Given the description of an element on the screen output the (x, y) to click on. 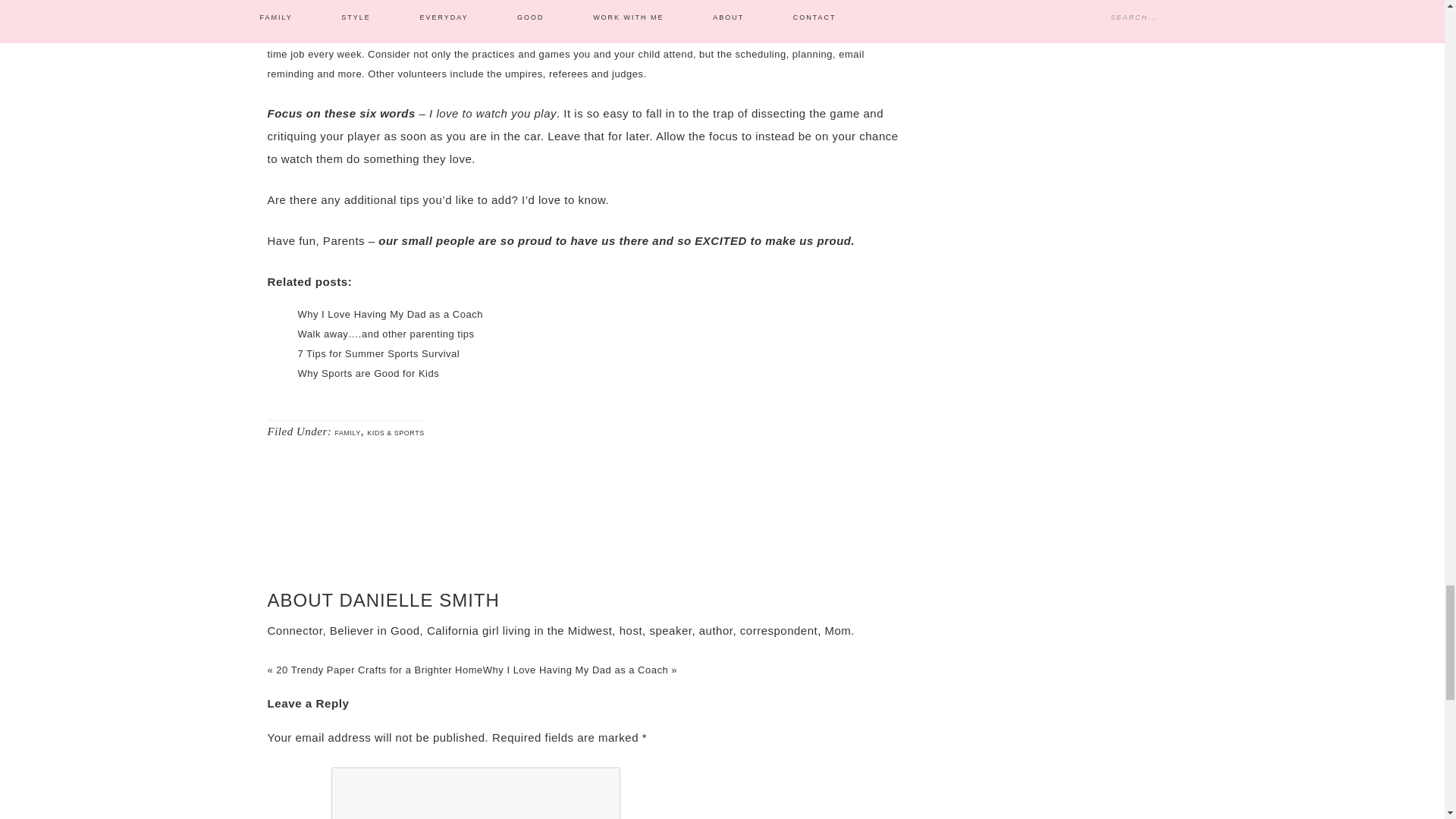
7 Tips for Summer Sports Survival (378, 353)
Why Sports are Good for Kids (368, 373)
7 Tips for Summer Sports Survival (378, 353)
Why Sports are Good for Kids (368, 373)
I love to watch you play (492, 113)
FAMILY (346, 432)
Why I Love Having My Dad as a Coach (389, 314)
Why I Love Having My Dad as a Coach (389, 314)
